Given the description of an element on the screen output the (x, y) to click on. 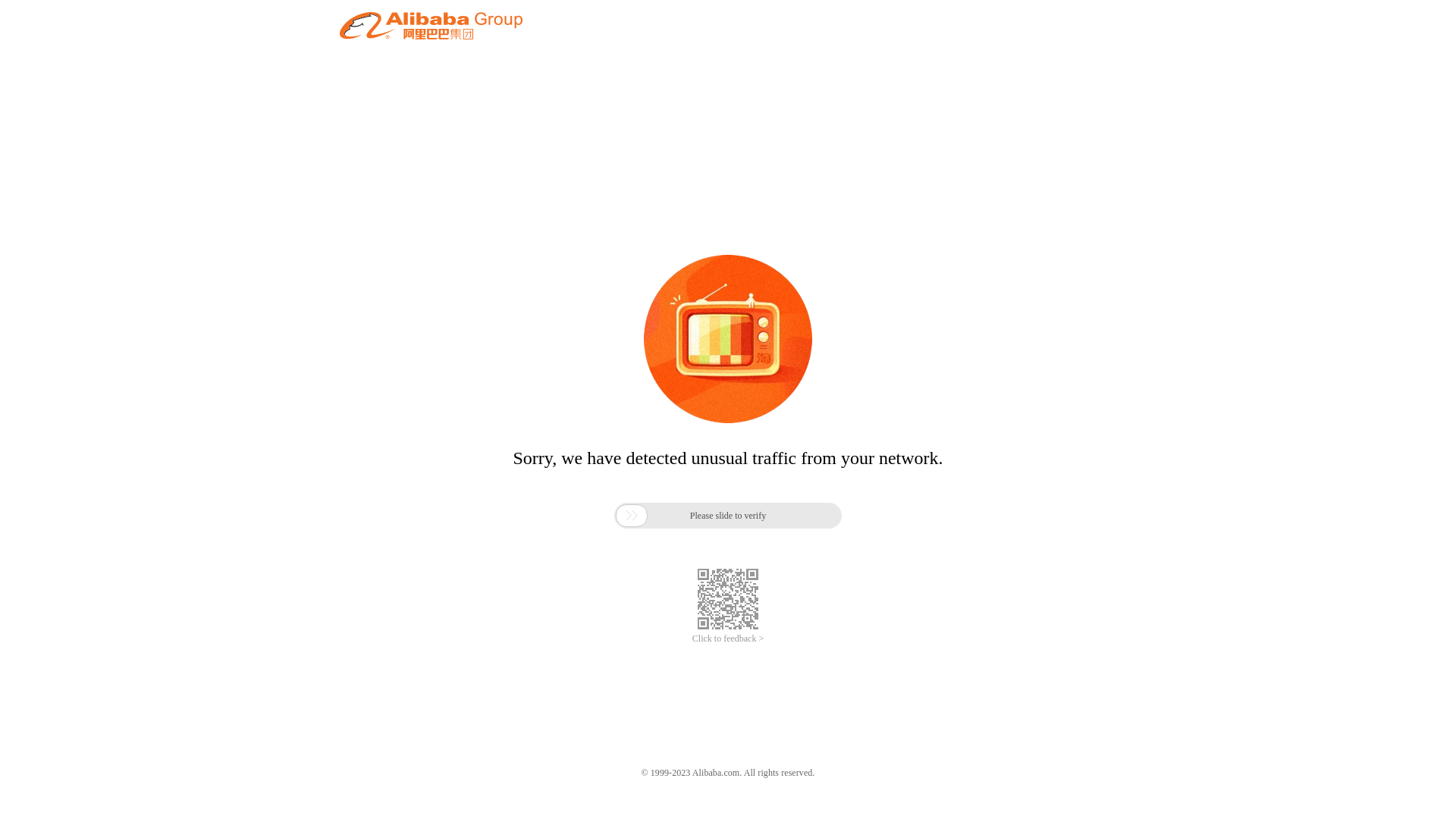
Click to feedback > Element type: text (727, 638)
